Given the description of an element on the screen output the (x, y) to click on. 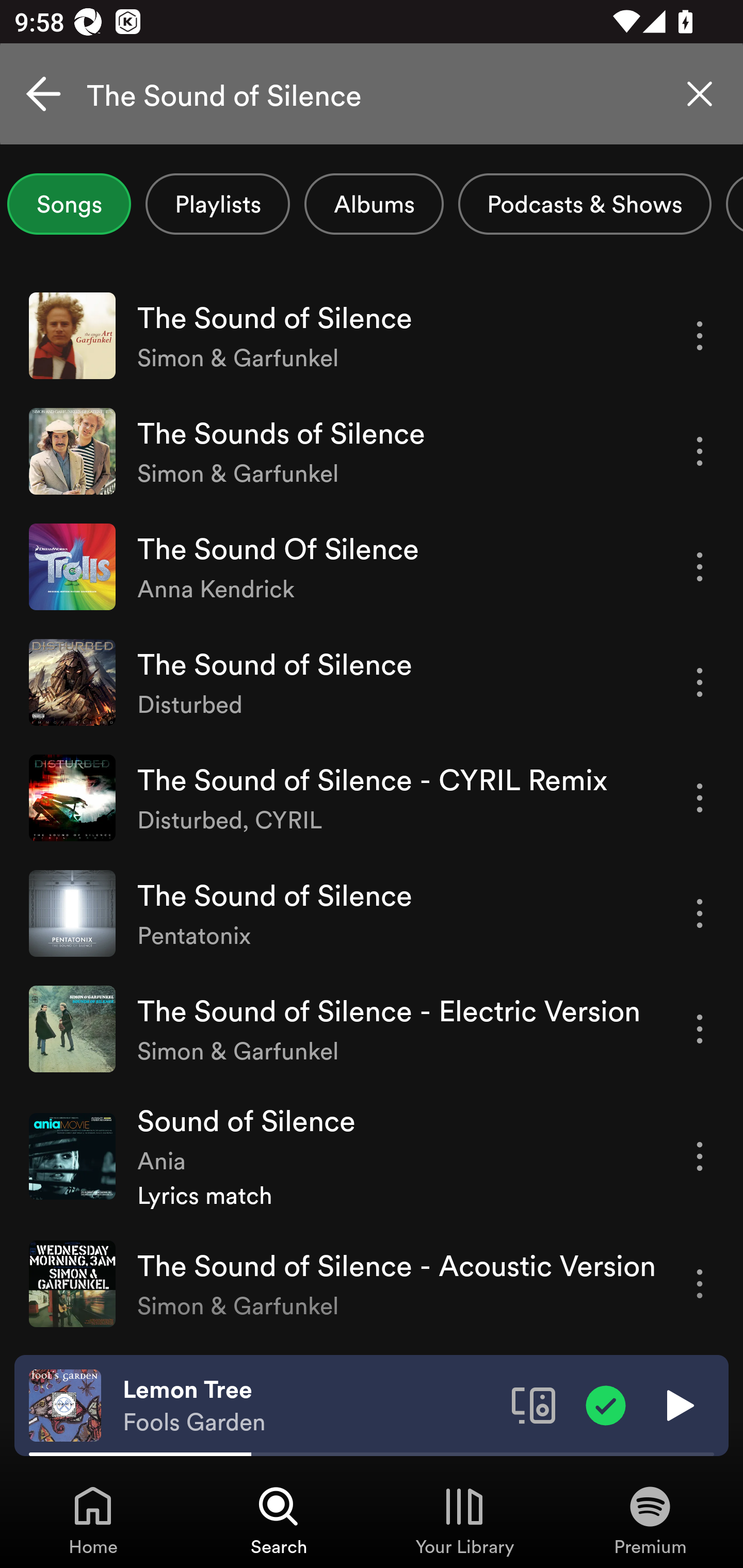
The Sound of Silence (371, 93)
Cancel (43, 93)
Clear search query (699, 93)
Songs (68, 203)
Playlists (217, 203)
Albums (373, 203)
Podcasts & Shows (584, 203)
More options for song The Sound of Silence (699, 336)
More options for song The Sounds of Silence (699, 450)
More options for song The Sound Of Silence (699, 566)
More options for song The Sound of Silence (699, 682)
More options for song The Sound of Silence (699, 913)
More options for song Sound of Silence (699, 1156)
Lemon Tree Fools Garden (309, 1405)
The cover art of the currently playing track (64, 1404)
Connect to a device. Opens the devices menu (533, 1404)
Item added (605, 1404)
Play (677, 1404)
Home, Tab 1 of 4 Home Home (92, 1519)
Search, Tab 2 of 4 Search Search (278, 1519)
Your Library, Tab 3 of 4 Your Library Your Library (464, 1519)
Premium, Tab 4 of 4 Premium Premium (650, 1519)
